Given the description of an element on the screen output the (x, y) to click on. 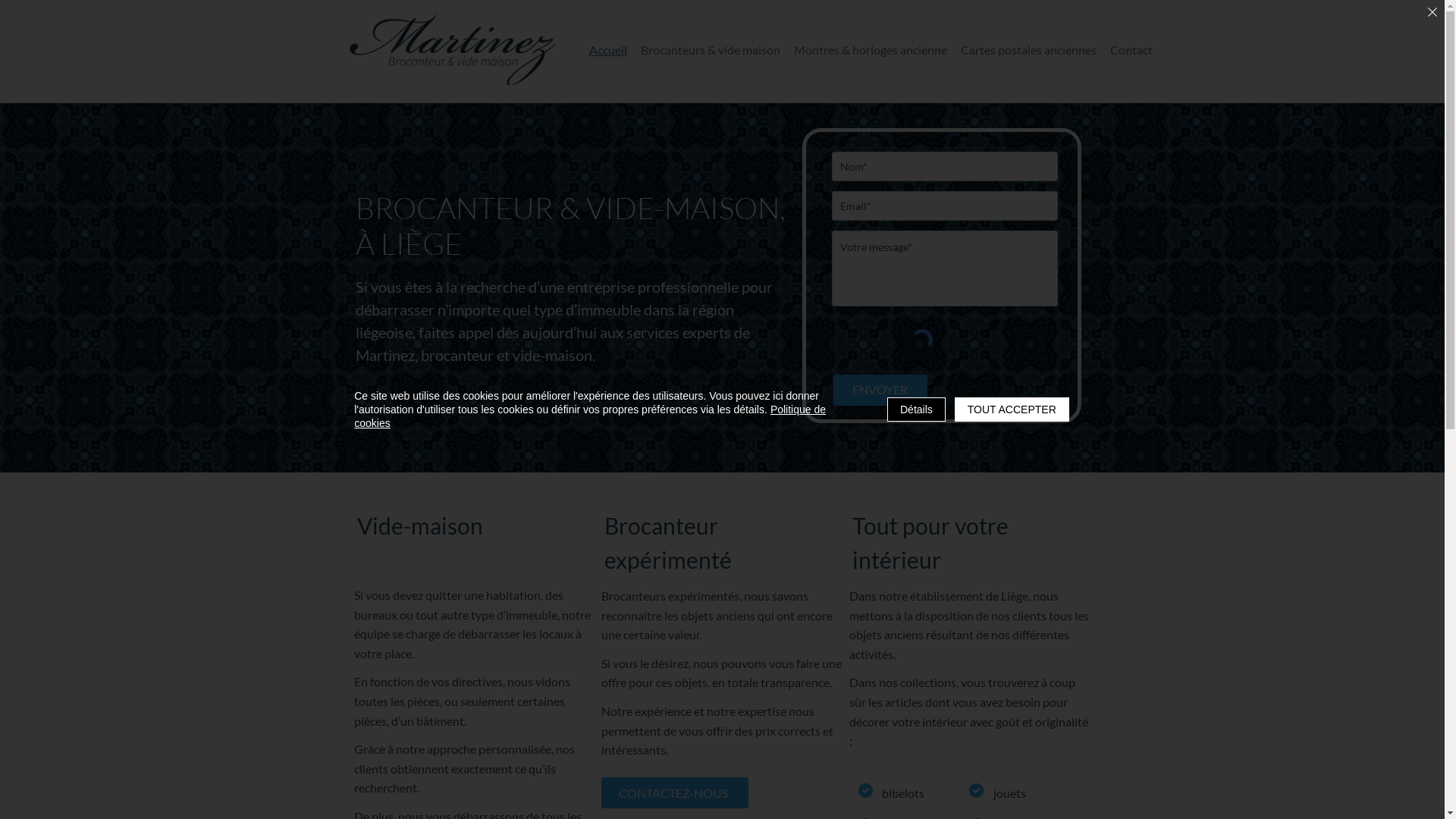
Montres & horloges ancienne Element type: text (869, 49)
Accueil Element type: text (606, 49)
TOUT ACCEPTER Element type: text (1011, 409)
Brocanteurs & vide maison Element type: text (709, 49)
Politique de cookies Element type: text (589, 416)
ENVOYER Element type: text (879, 389)
Cartes postales anciennes Element type: text (1027, 49)
CONTACTEZ-NOUS Element type: text (673, 792)
Contact Element type: text (1131, 49)
